Given the description of an element on the screen output the (x, y) to click on. 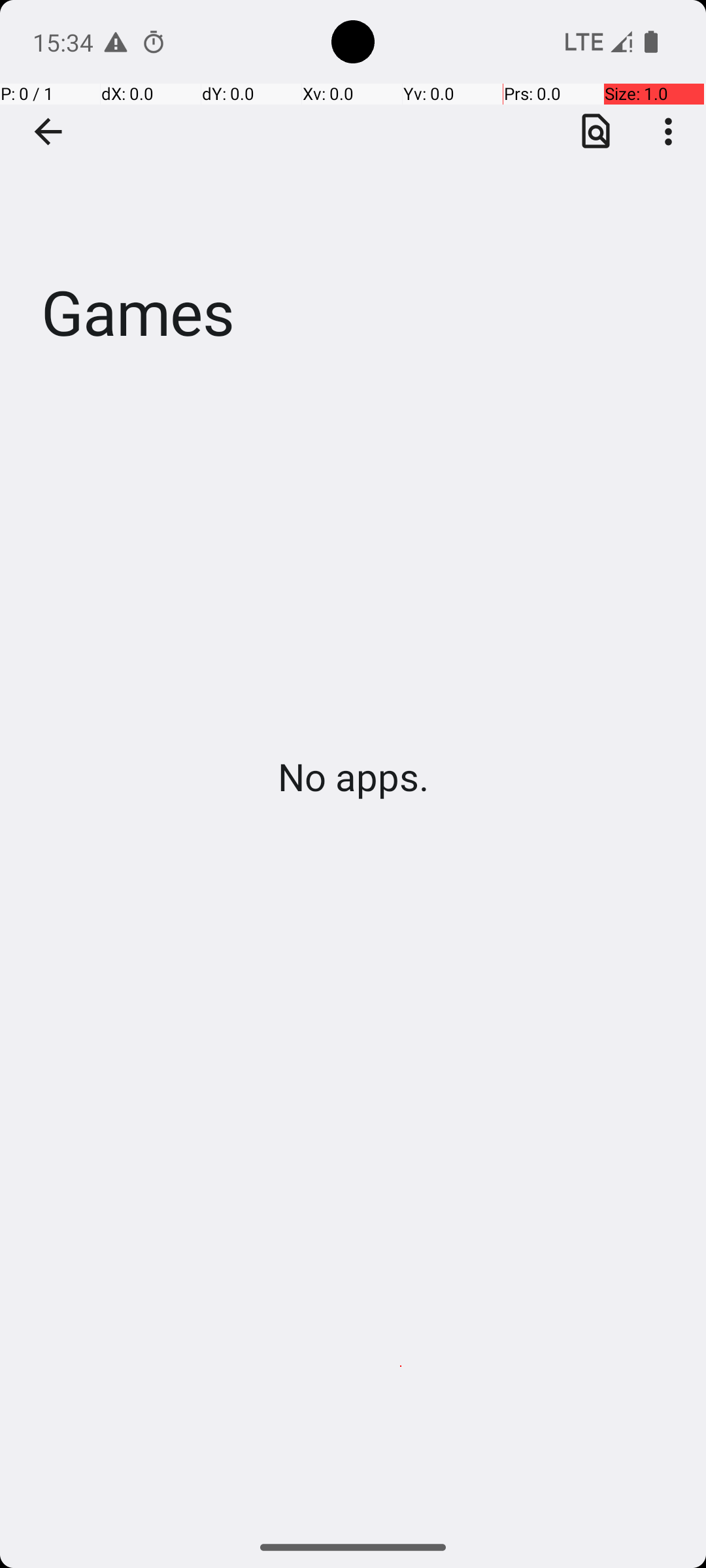
No apps. Element type: android.widget.TextView (353, 776)
